Given the description of an element on the screen output the (x, y) to click on. 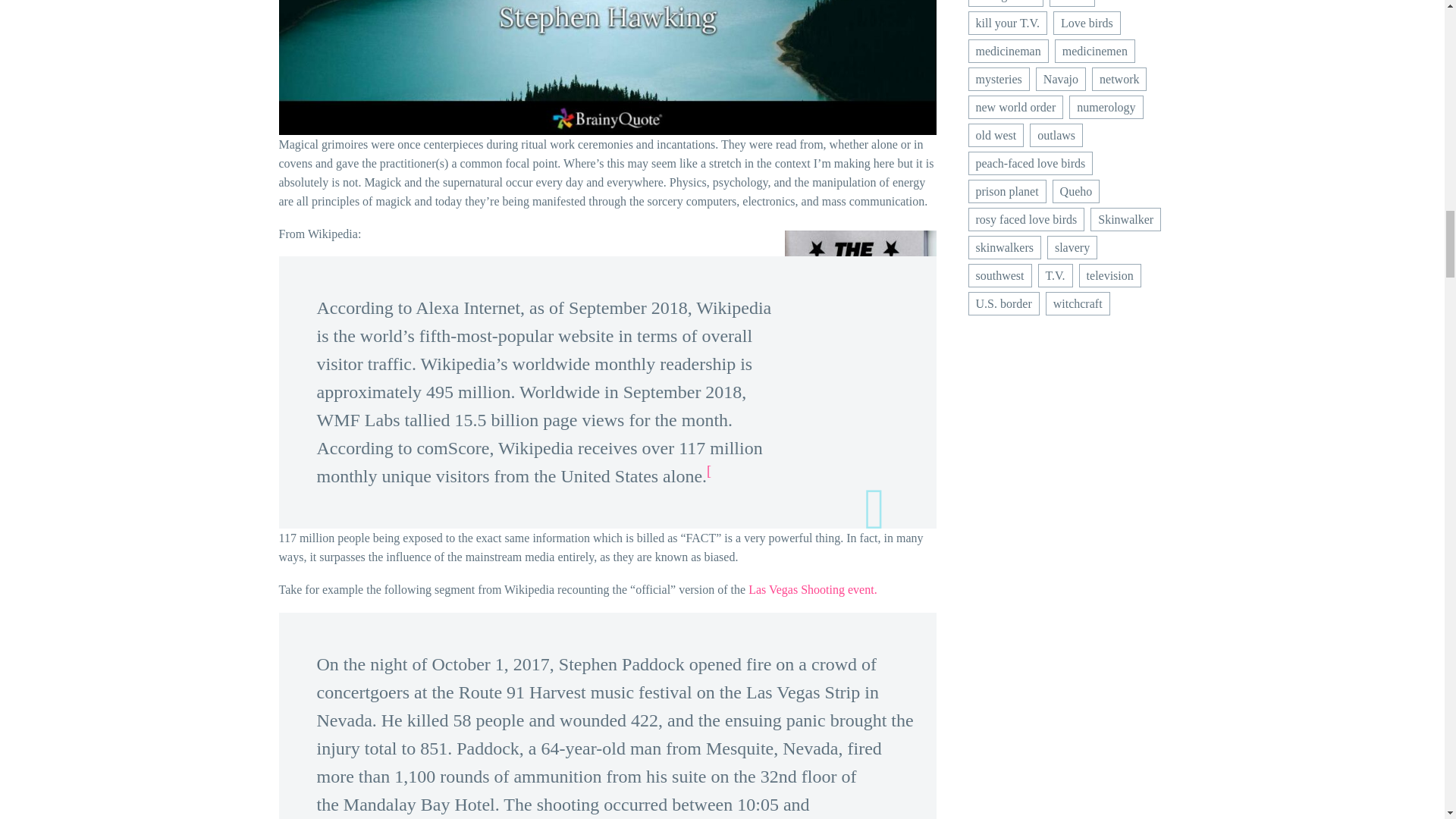
Las Vegas Shooting event. (812, 589)
